Given the description of an element on the screen output the (x, y) to click on. 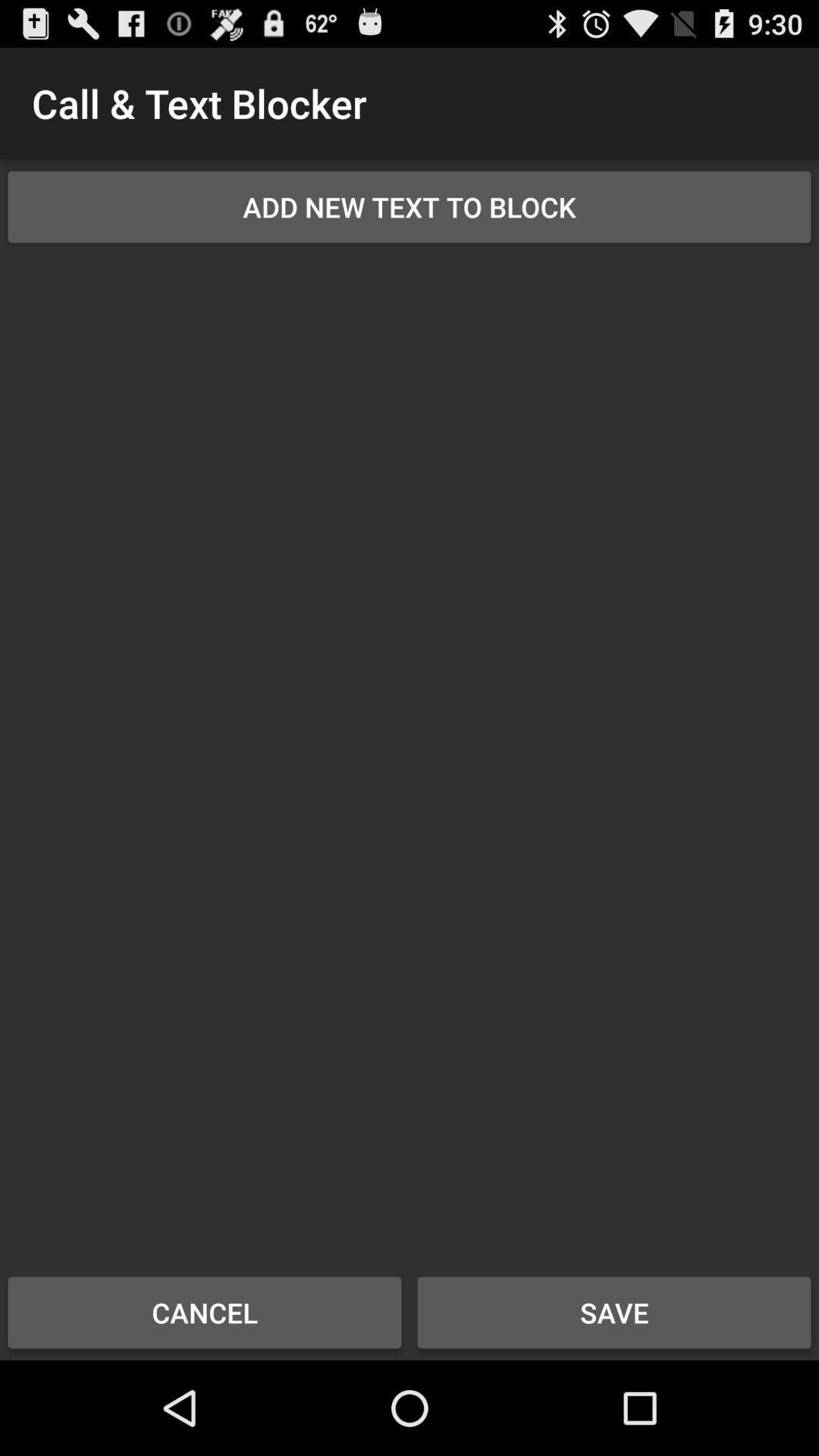
open button next to cancel button (614, 1312)
